Given the description of an element on the screen output the (x, y) to click on. 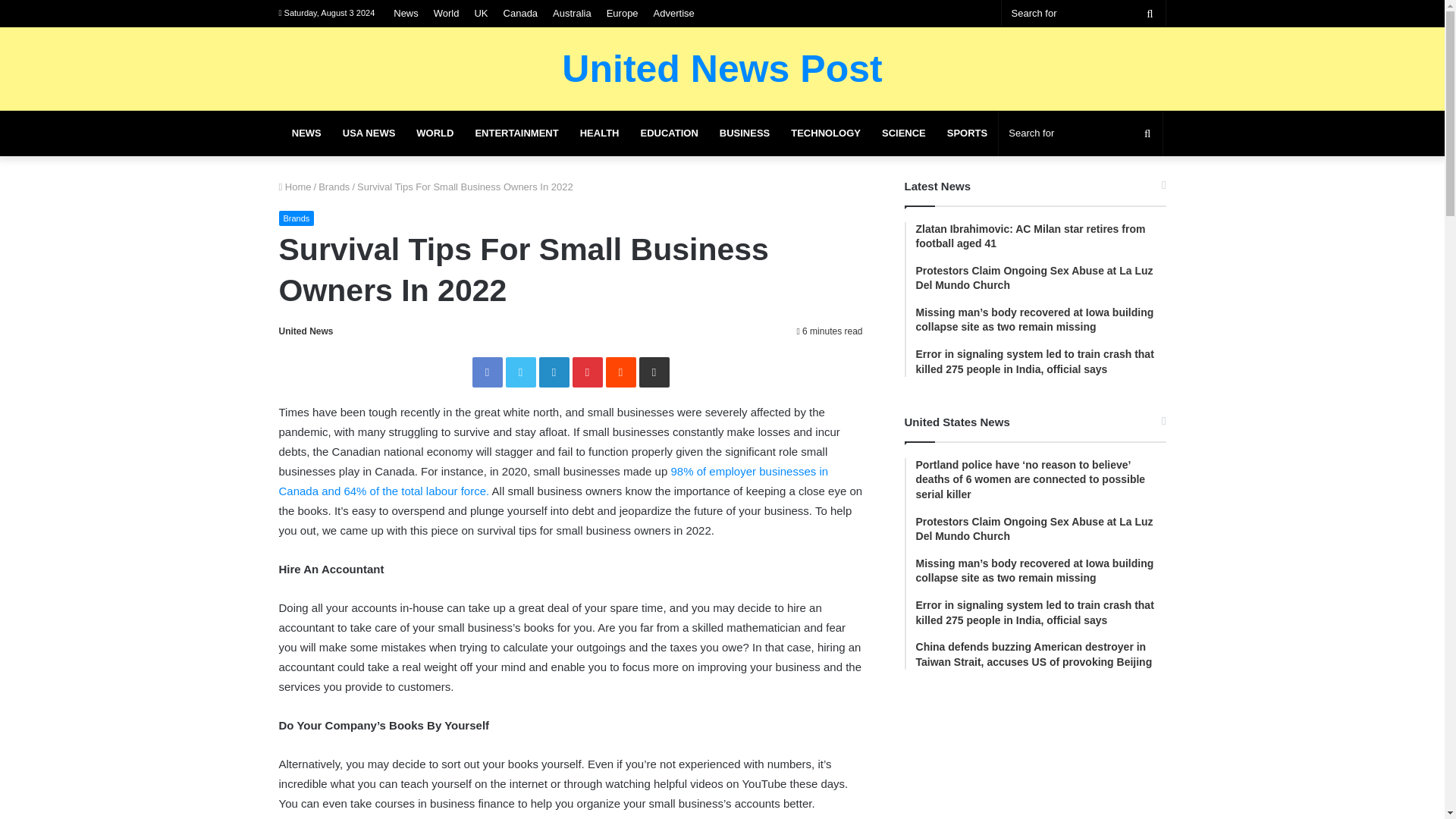
Advertise (673, 13)
UK (480, 13)
ENTERTAINMENT (516, 133)
Pinterest (587, 372)
Home (295, 186)
United News Post (722, 68)
Brands (333, 186)
WORLD (435, 133)
United News (306, 330)
Search for (1146, 133)
NEWS (306, 133)
EDUCATION (667, 133)
United News (306, 330)
LinkedIn (553, 372)
Twitter (520, 372)
